Given the description of an element on the screen output the (x, y) to click on. 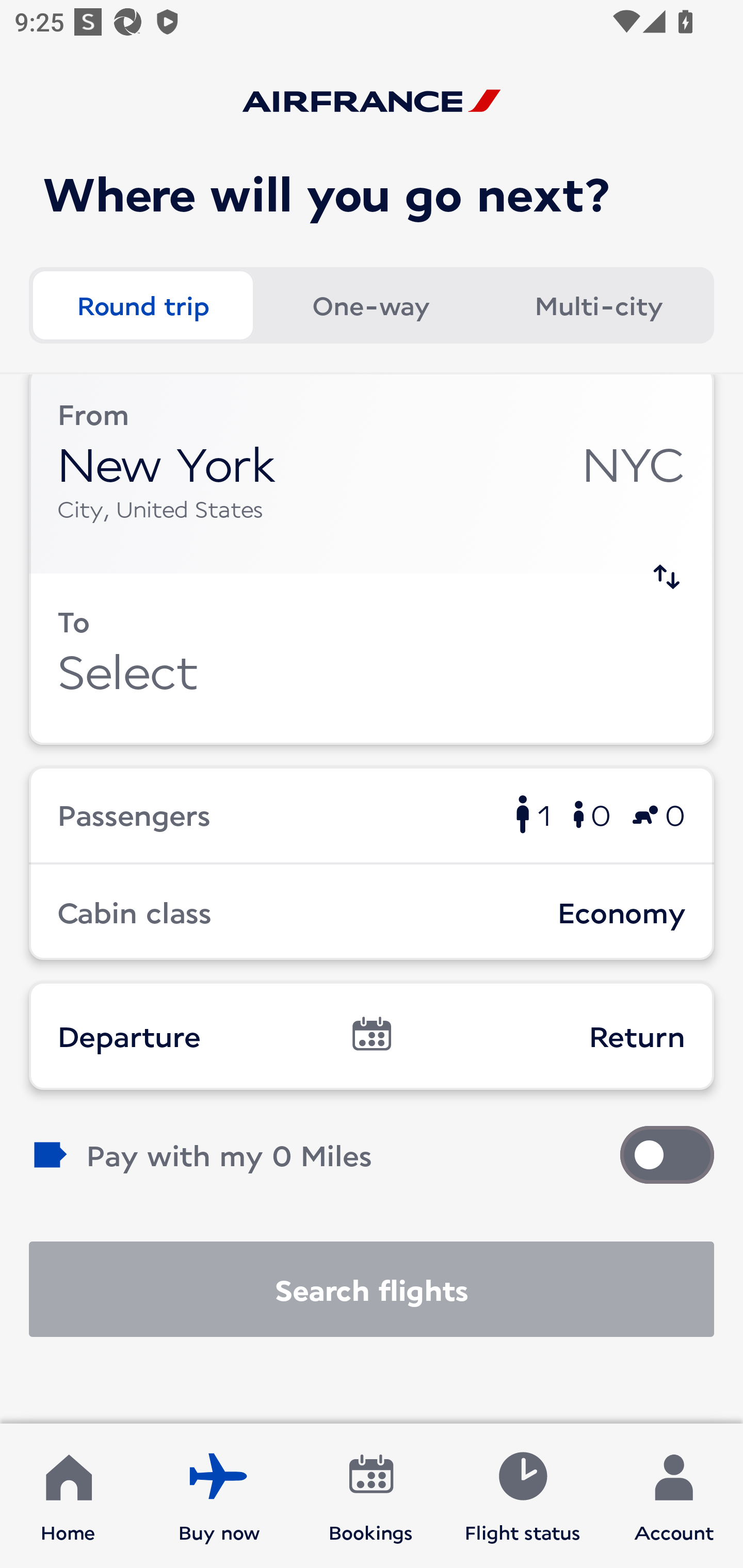
Round trip (142, 304)
One-way (370, 304)
Multi-city (598, 304)
From New York NYC City, United States (371, 473)
To Select (371, 658)
Passengers 1 0 0 (371, 814)
Cabin class Economy (371, 911)
Departure Return (371, 1035)
Search flights (371, 1289)
Home (68, 1495)
Bookings (370, 1495)
Flight status (522, 1495)
Account (674, 1495)
